Given the description of an element on the screen output the (x, y) to click on. 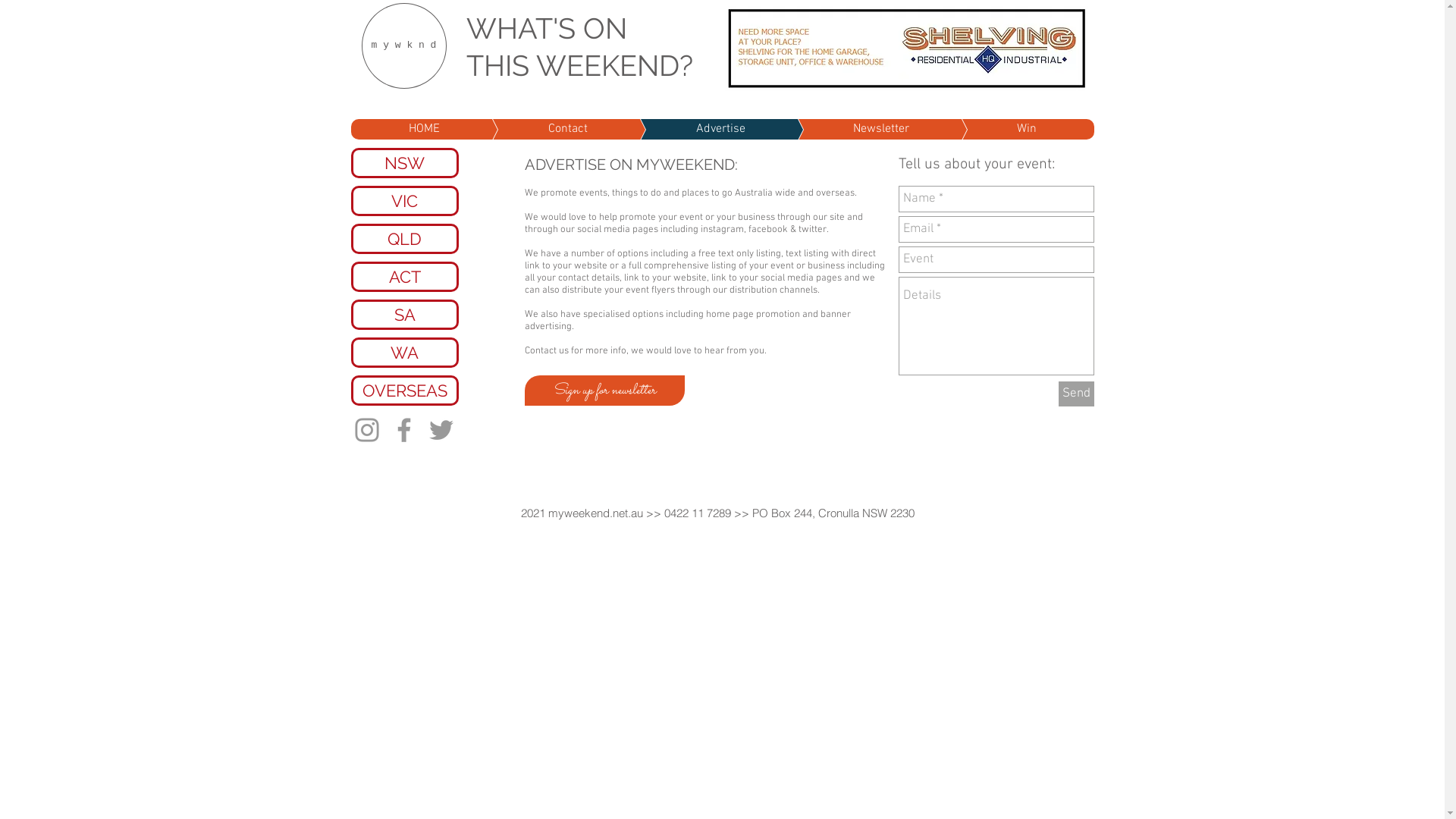
m y w k n d Element type: text (402, 45)
SA Element type: text (404, 314)
NSW Element type: text (404, 162)
Advertise Element type: text (698, 129)
WA Element type: text (404, 352)
Newsletter Element type: text (858, 129)
OVERSEAS Element type: text (404, 390)
ACT Element type: text (404, 276)
HOME Element type: text (423, 129)
Sign up for newsletter Element type: text (604, 390)
Contact Element type: text (544, 129)
Win Element type: text (1004, 129)
VIC Element type: text (404, 200)
Send Element type: text (1076, 393)
